Given the description of an element on the screen output the (x, y) to click on. 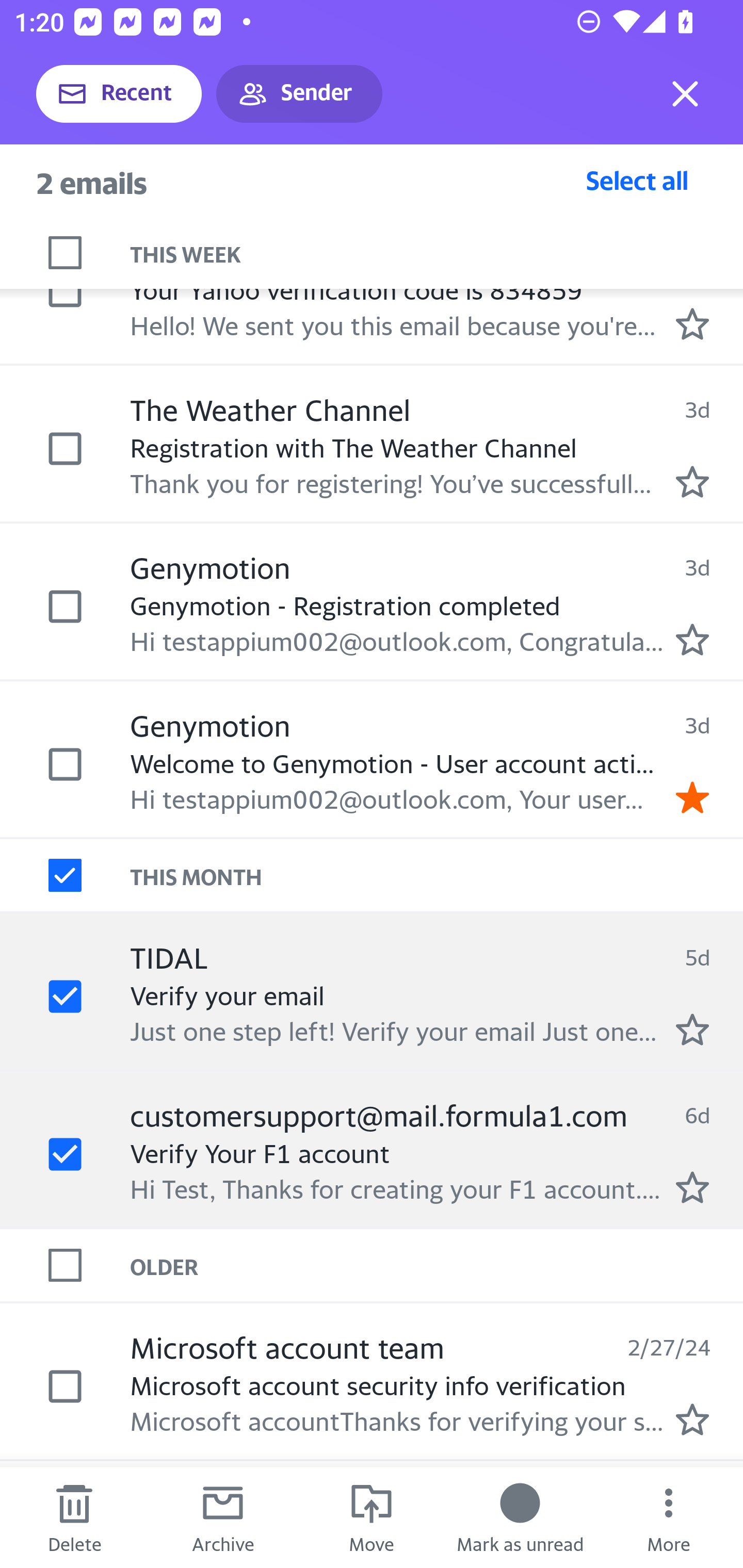
Sender (299, 93)
Exit selection mode (684, 93)
Select all (637, 180)
Mark as starred. (692, 323)
Mark as starred. (692, 482)
Mark as starred. (692, 638)
Remove star. (692, 797)
THIS MONTH (436, 875)
Mark as starred. (692, 1029)
Mark as starred. (692, 1187)
OLDER (436, 1264)
Mark as starred. (692, 1419)
Delete (74, 1517)
Archive (222, 1517)
Move (371, 1517)
Mark as unread (519, 1517)
More (668, 1517)
